Given the description of an element on the screen output the (x, y) to click on. 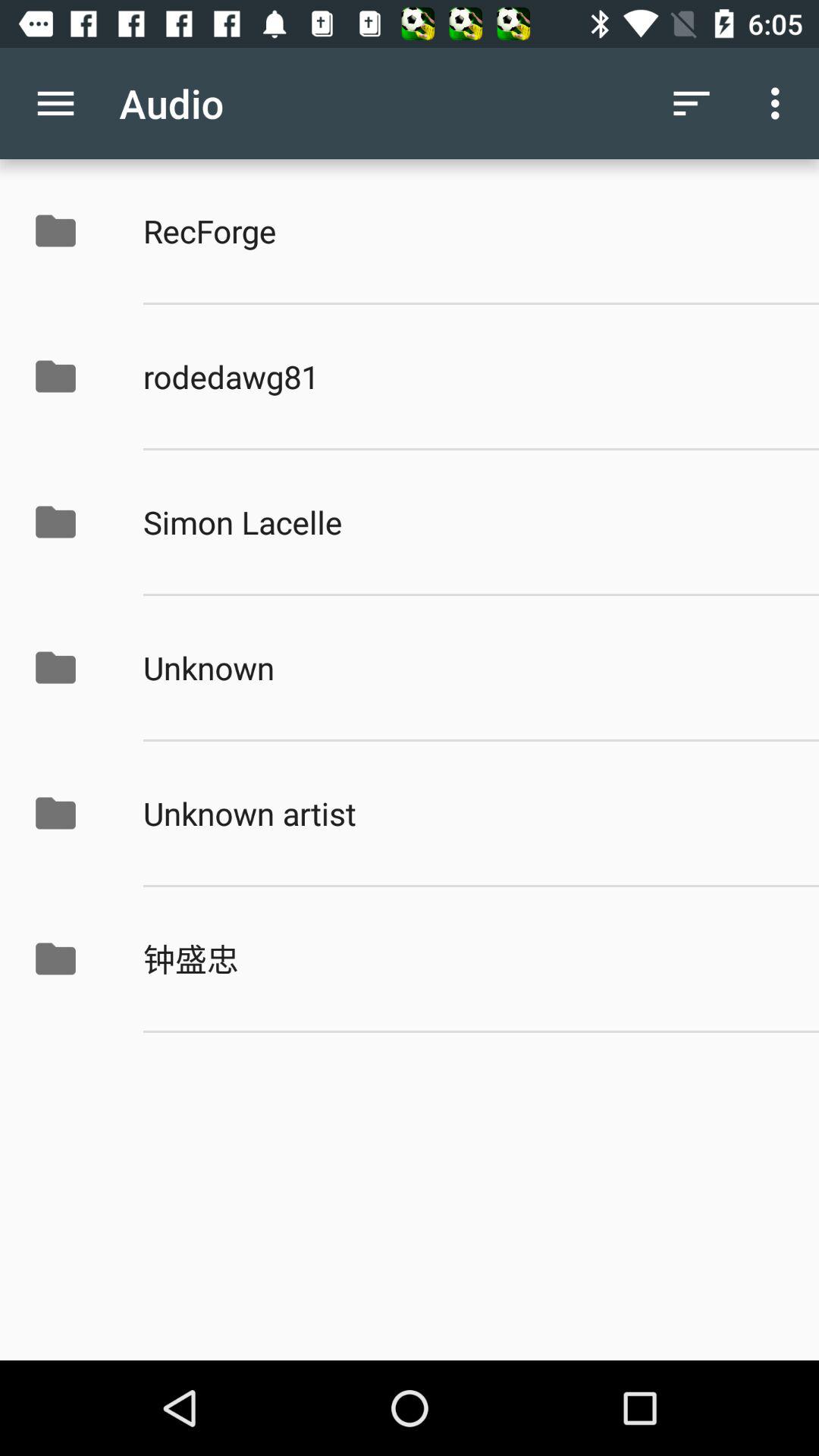
tap recforge item (465, 230)
